Given the description of an element on the screen output the (x, y) to click on. 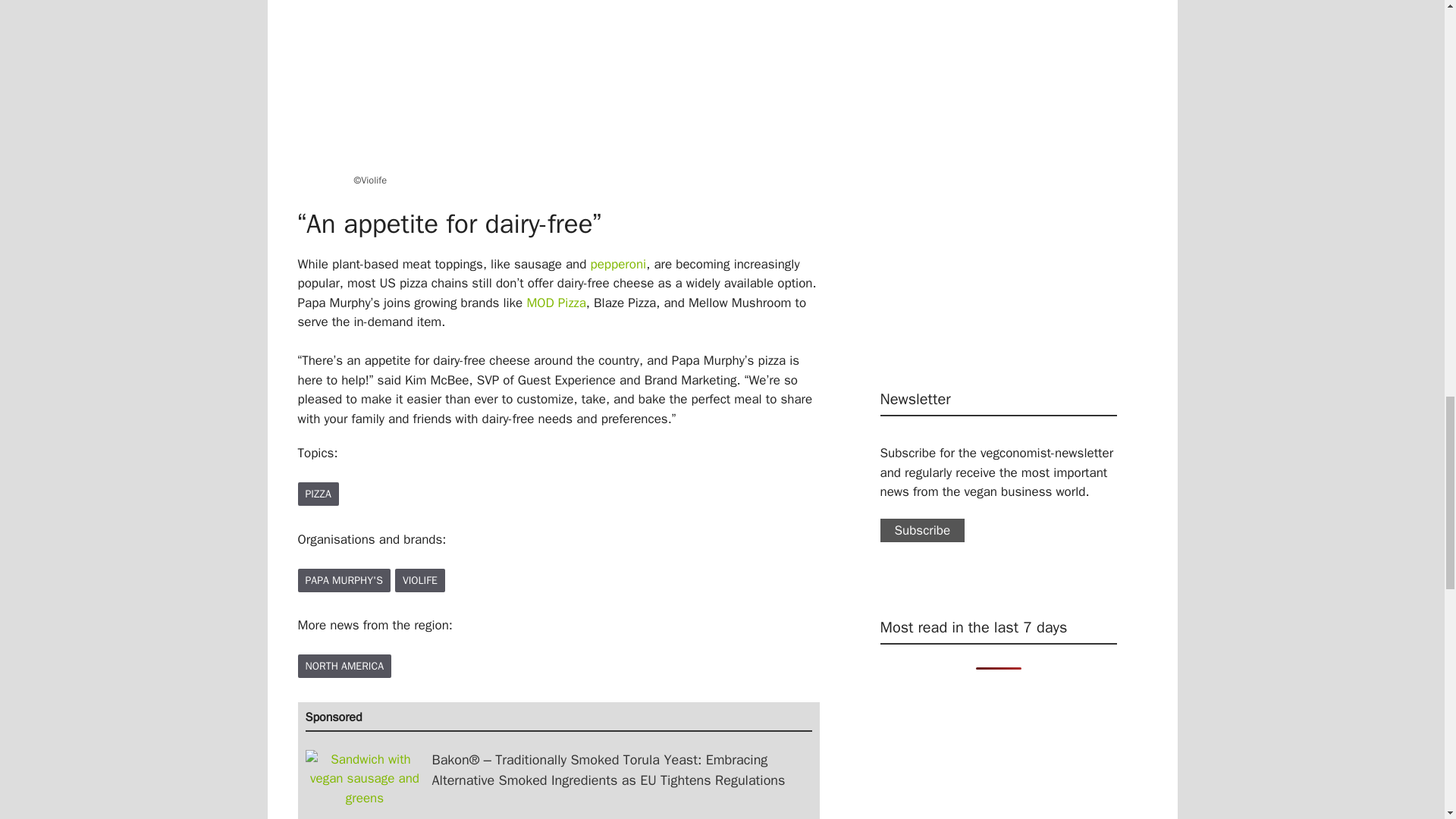
Papa Murphy's (343, 580)
North America (344, 666)
Pizza (317, 494)
Violife (419, 580)
